Given the description of an element on the screen output the (x, y) to click on. 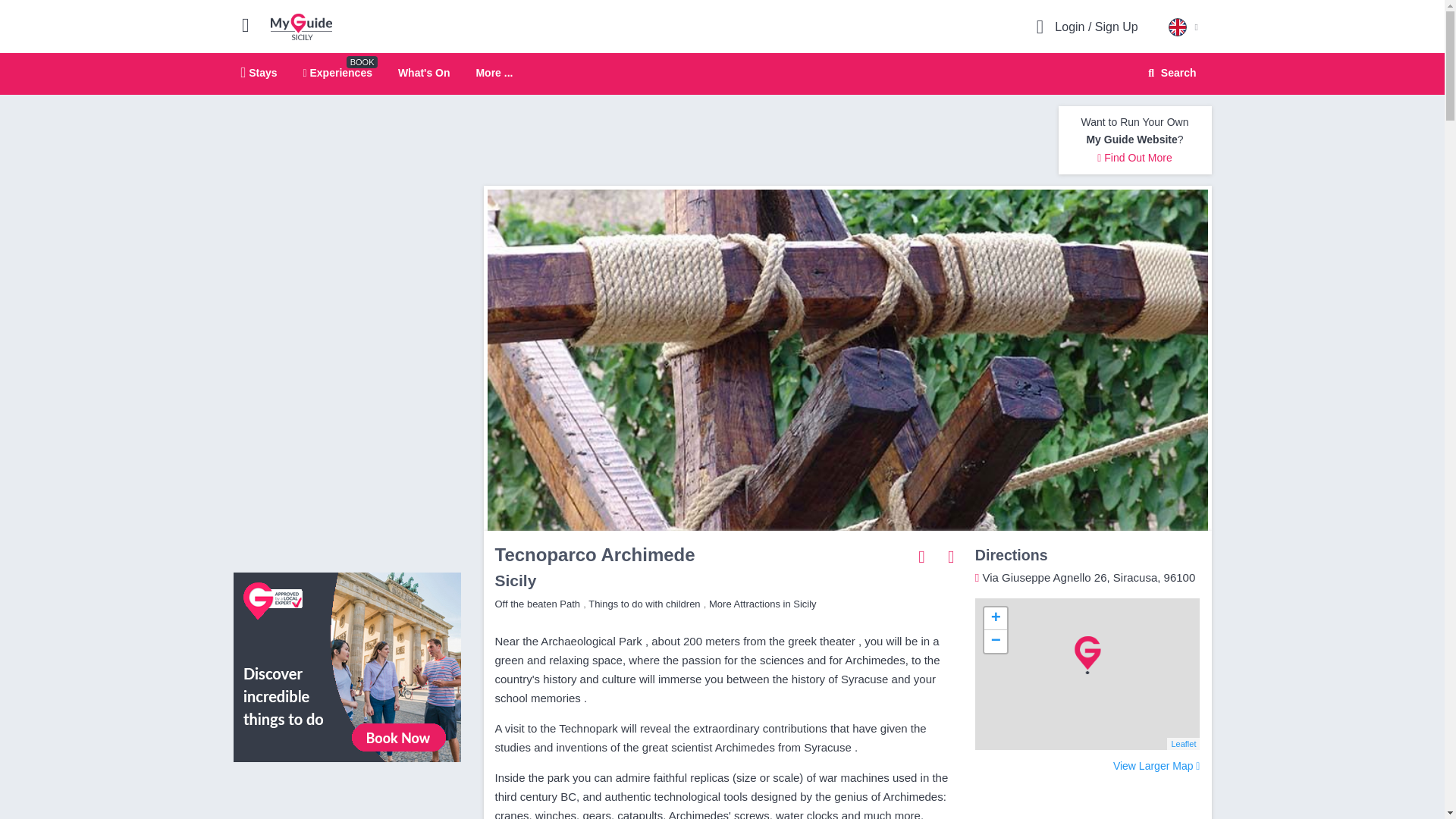
Advertisement (759, 140)
What's On (423, 72)
Zoom in (995, 618)
More ... (494, 72)
Stays (259, 72)
Experiences (337, 72)
My Guide Sicily (300, 25)
View All Experiences (346, 666)
A JS library for interactive maps (1182, 743)
Search Website (1170, 73)
